Given the description of an element on the screen output the (x, y) to click on. 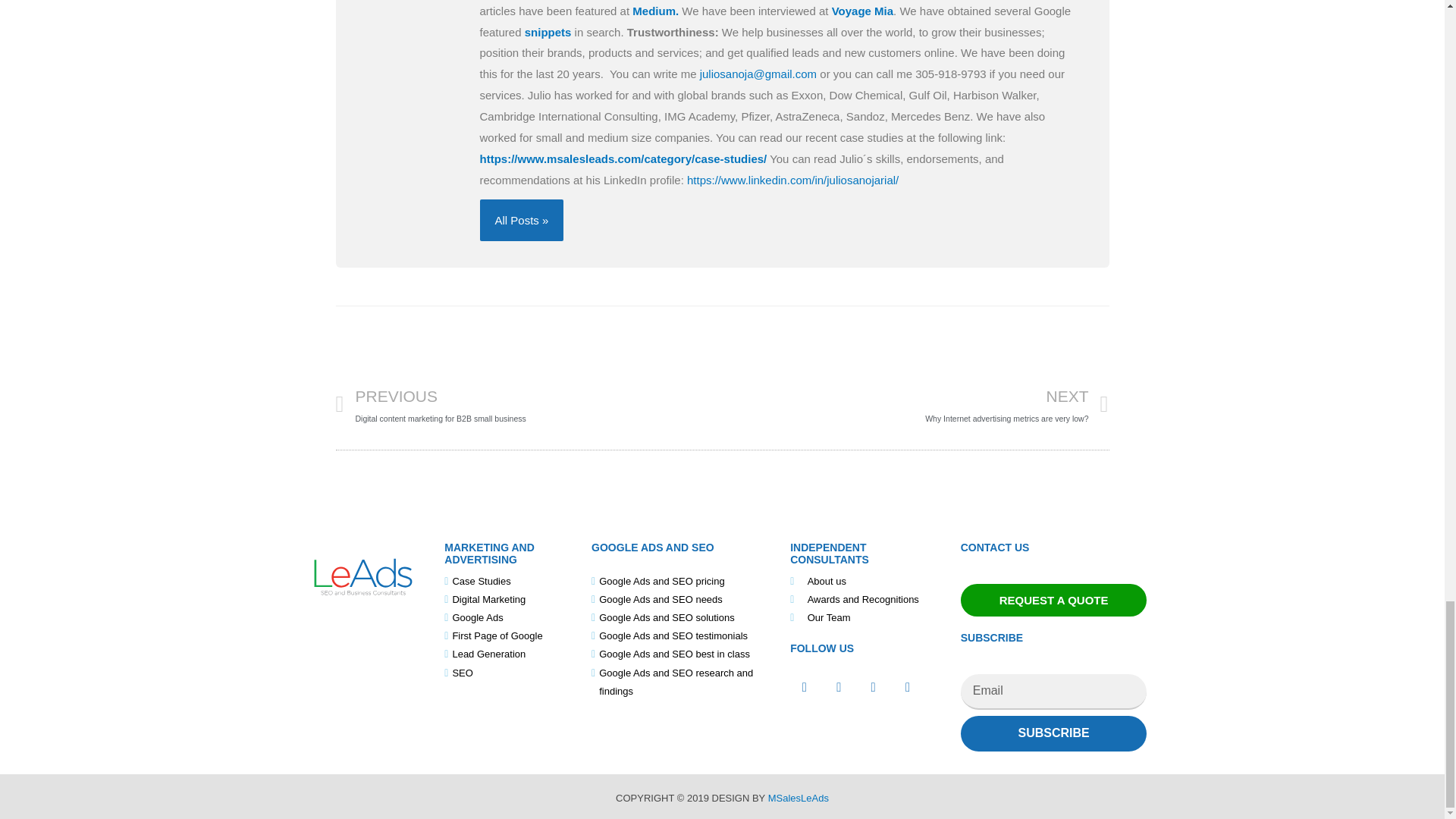
Medium. (654, 10)
Voyage Mia (862, 10)
snippets (528, 403)
